Given the description of an element on the screen output the (x, y) to click on. 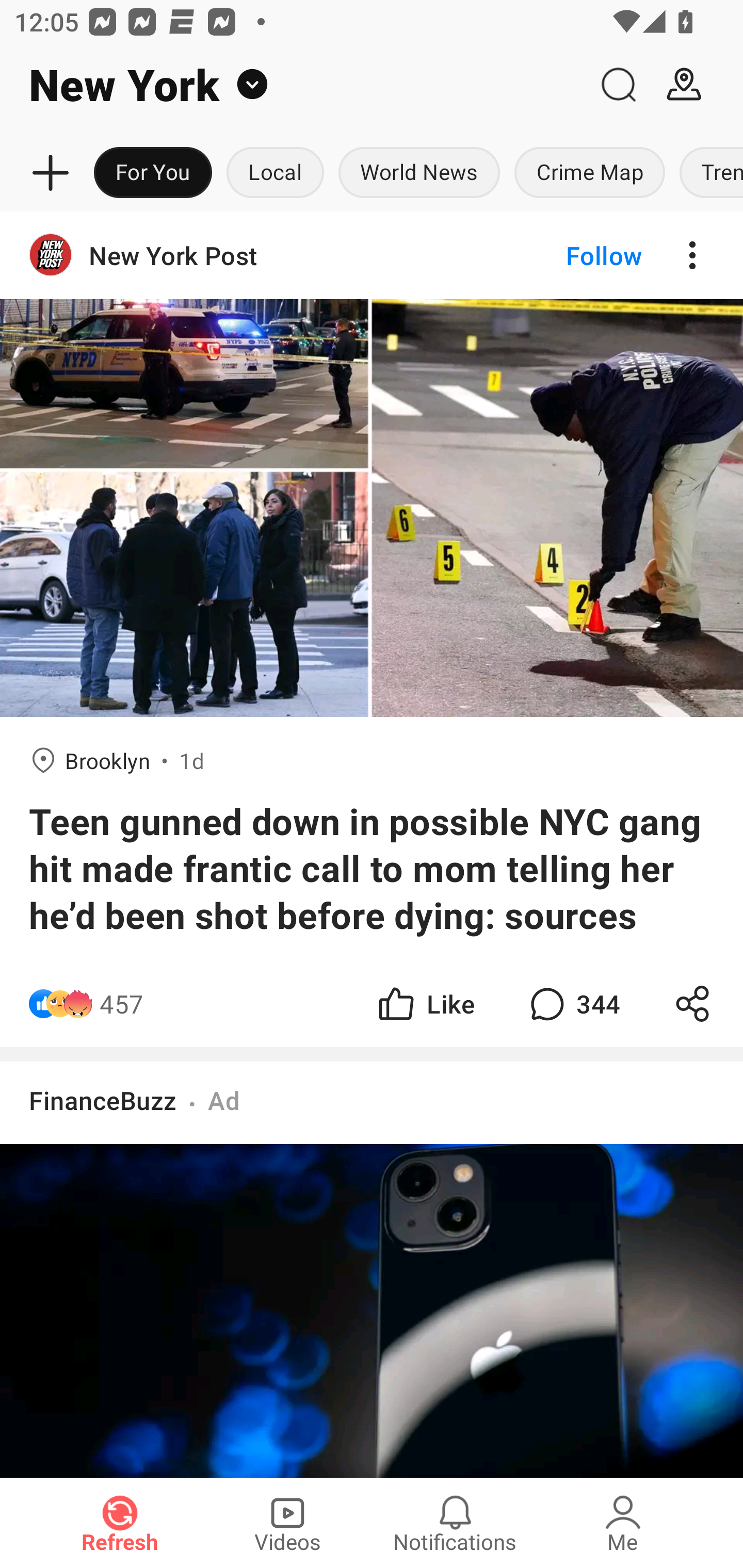
New York (292, 84)
For You (152, 172)
Local (275, 172)
World News (419, 172)
Crime Map (589, 172)
New York Post Follow (371, 255)
Follow (569, 255)
457 (121, 1003)
Like (425, 1003)
344 (572, 1003)
FinanceBuzz (102, 1099)
Videos (287, 1522)
Notifications (455, 1522)
Me (622, 1522)
